Given the description of an element on the screen output the (x, y) to click on. 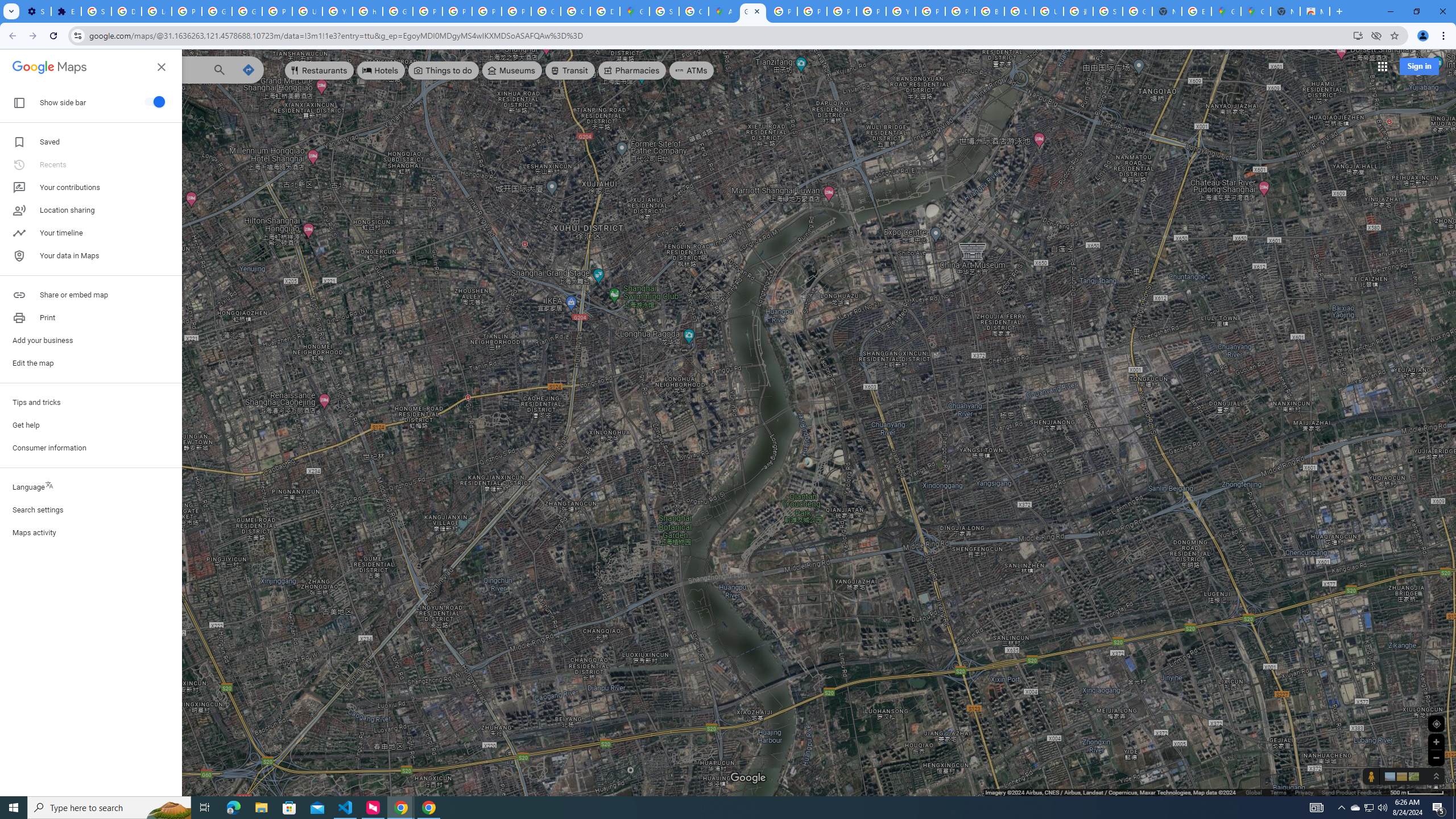
Your data in Maps (90, 255)
Add your business (90, 340)
Edit the map (90, 363)
Print (90, 318)
Google Maps (1255, 11)
Saved (20, 104)
Location sharing (90, 210)
Hotels (381, 70)
